Given the description of an element on the screen output the (x, y) to click on. 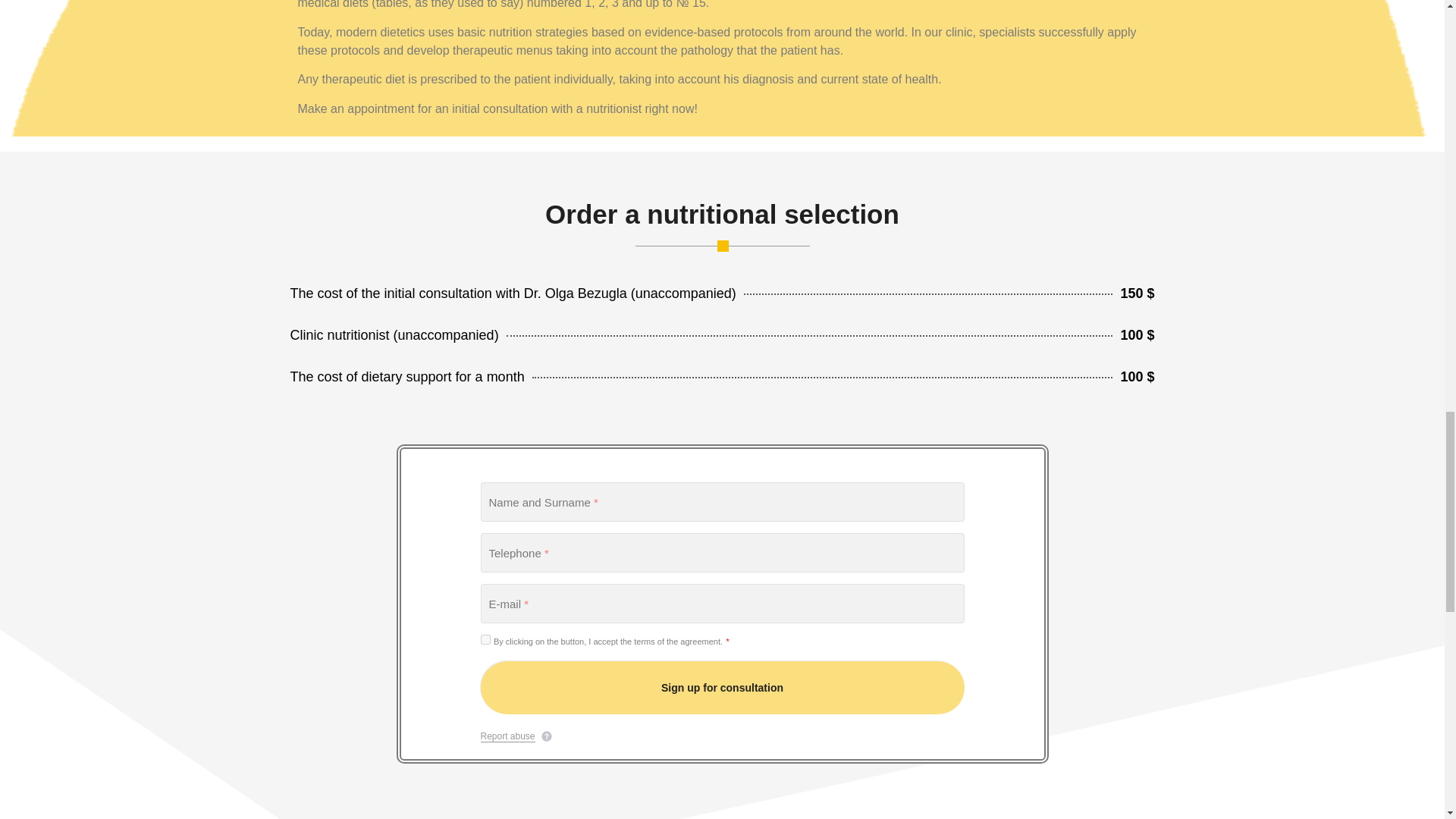
on (485, 639)
